Given the description of an element on the screen output the (x, y) to click on. 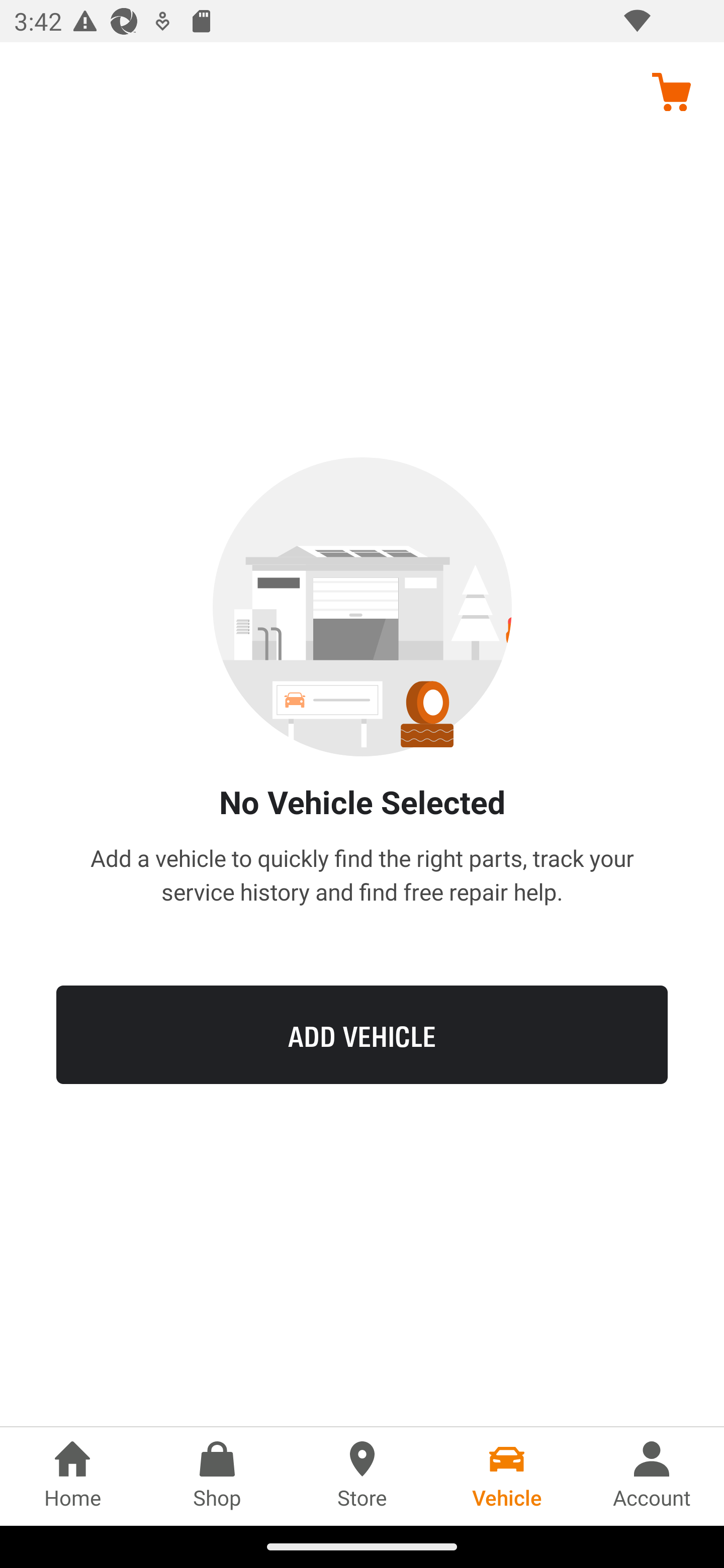
Cart, no items  (670, 91)
ADD VEHICLE (361, 1034)
Home (72, 1475)
Shop (216, 1475)
Store (361, 1475)
Vehicle (506, 1475)
Account (651, 1475)
